Given the description of an element on the screen output the (x, y) to click on. 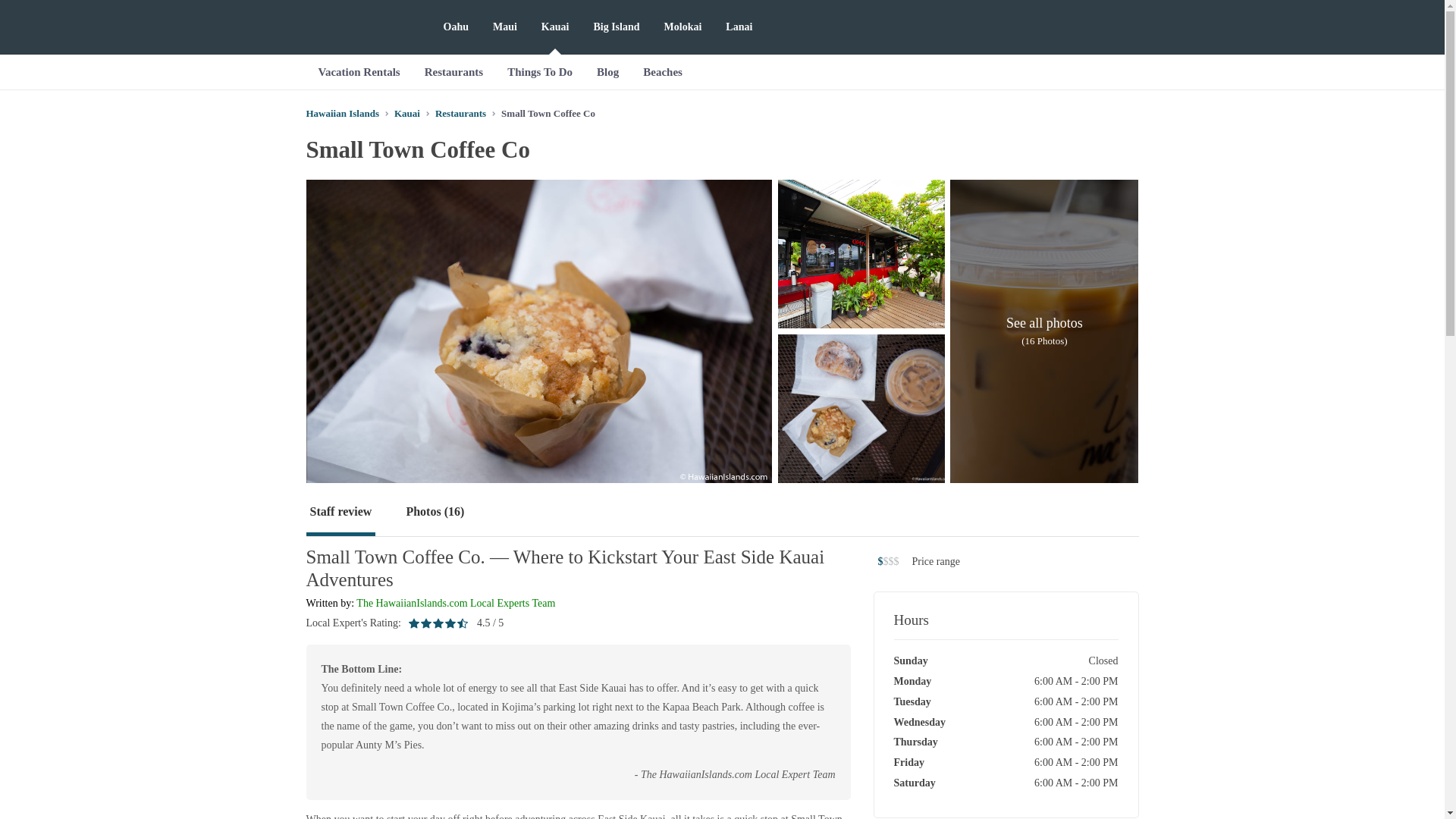
Blog (607, 71)
Things To Do (540, 71)
Original Photo (860, 408)
Vacation Rentals (358, 71)
Staff review (340, 513)
Hawaiian Islands (341, 112)
Original Photo (860, 253)
Restaurants (454, 71)
Restaurants (460, 112)
